Given the description of an element on the screen output the (x, y) to click on. 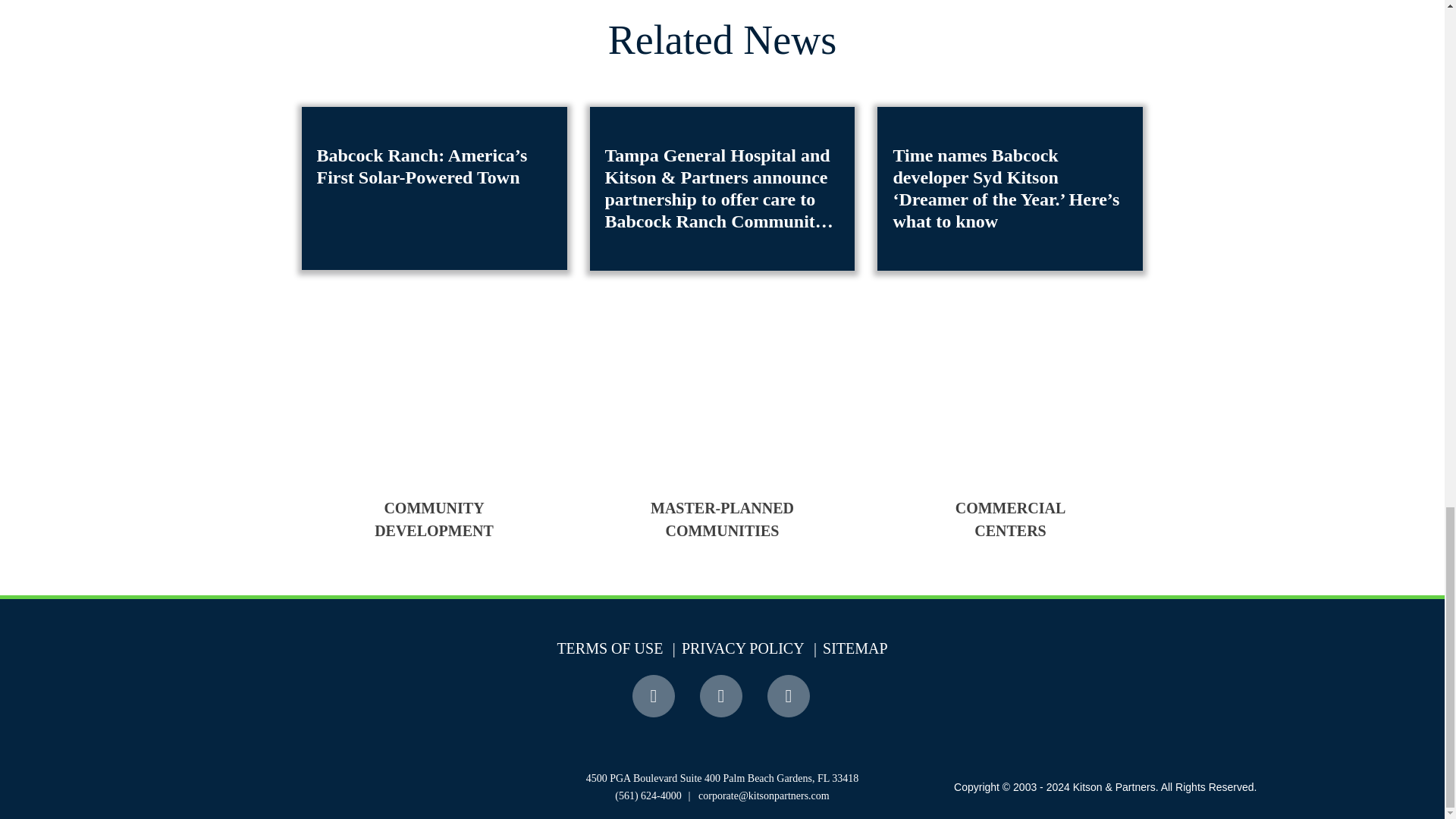
TERMS OF USE (609, 647)
Twitter (721, 695)
Facebook (654, 695)
SITEMAP (848, 647)
PRIVACY POLICY (735, 647)
